Given the description of an element on the screen output the (x, y) to click on. 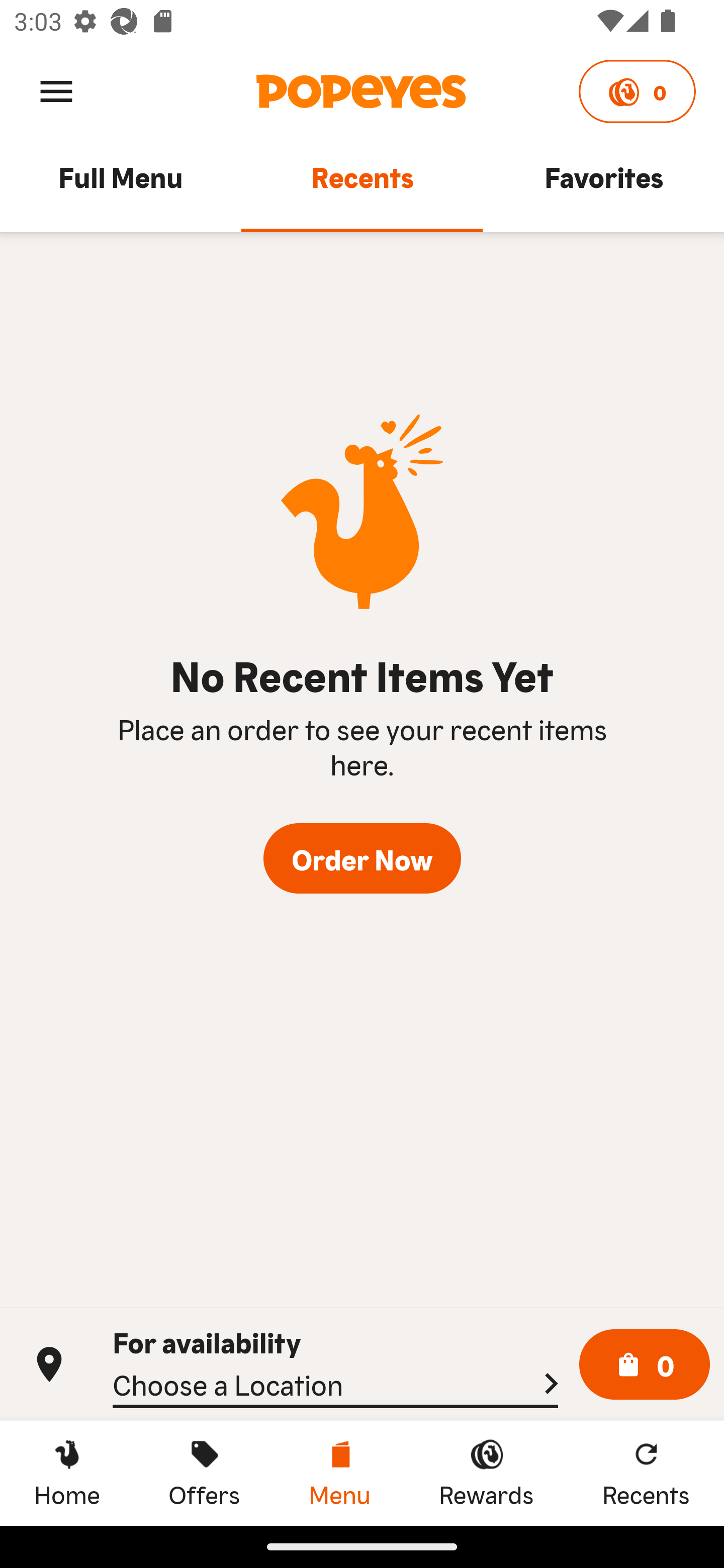
Menu  (56, 90)
0 Points 0 (636, 91)
Full Menu (120, 186)
Recents (361, 186)
Favorites (603, 186)
Order Now (362, 858)
0 Cart total  0 (644, 1364)
Home Home Home (66, 1472)
Offers Offers Offers (203, 1472)
Menu, current page Menu Menu, current page (339, 1472)
Rewards Rewards Rewards (486, 1472)
Recents Recents Recents (646, 1472)
